Given the description of an element on the screen output the (x, y) to click on. 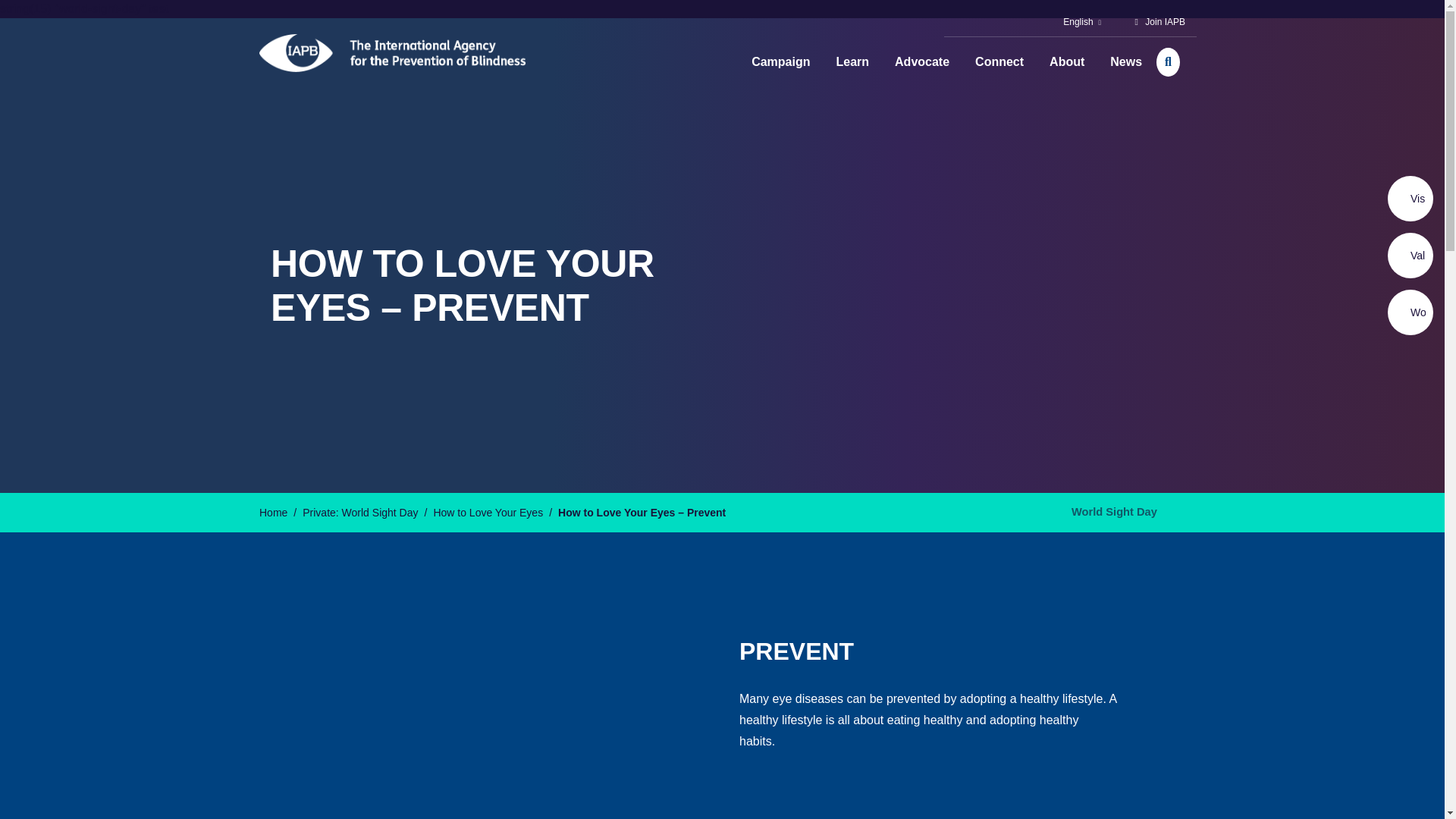
Learn (852, 61)
IAPB Home Page (392, 53)
Join IAPB (1164, 21)
Campaign (780, 61)
